Given the description of an element on the screen output the (x, y) to click on. 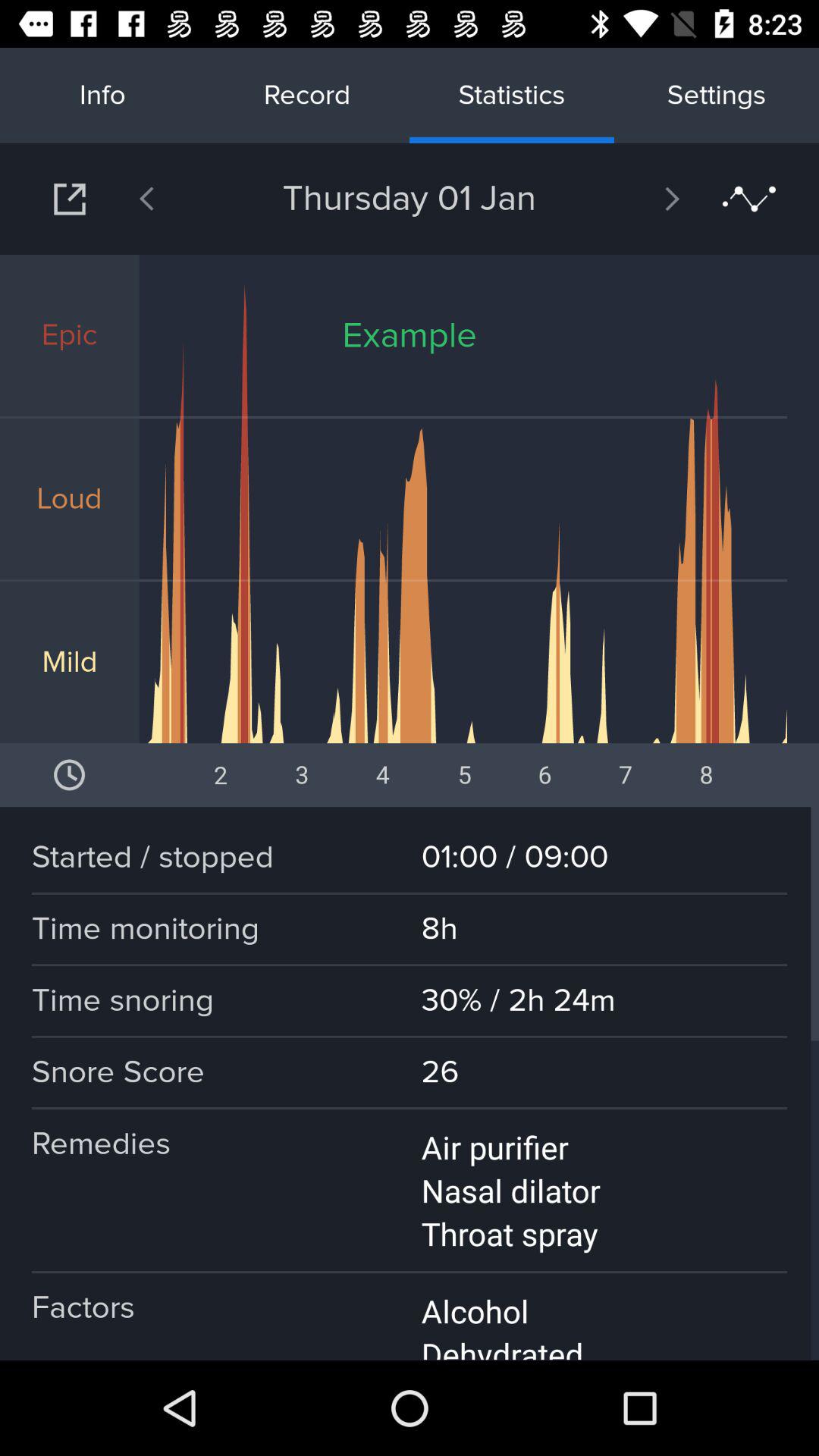
turn off the thursday 01 jan app (409, 198)
